Given the description of an element on the screen output the (x, y) to click on. 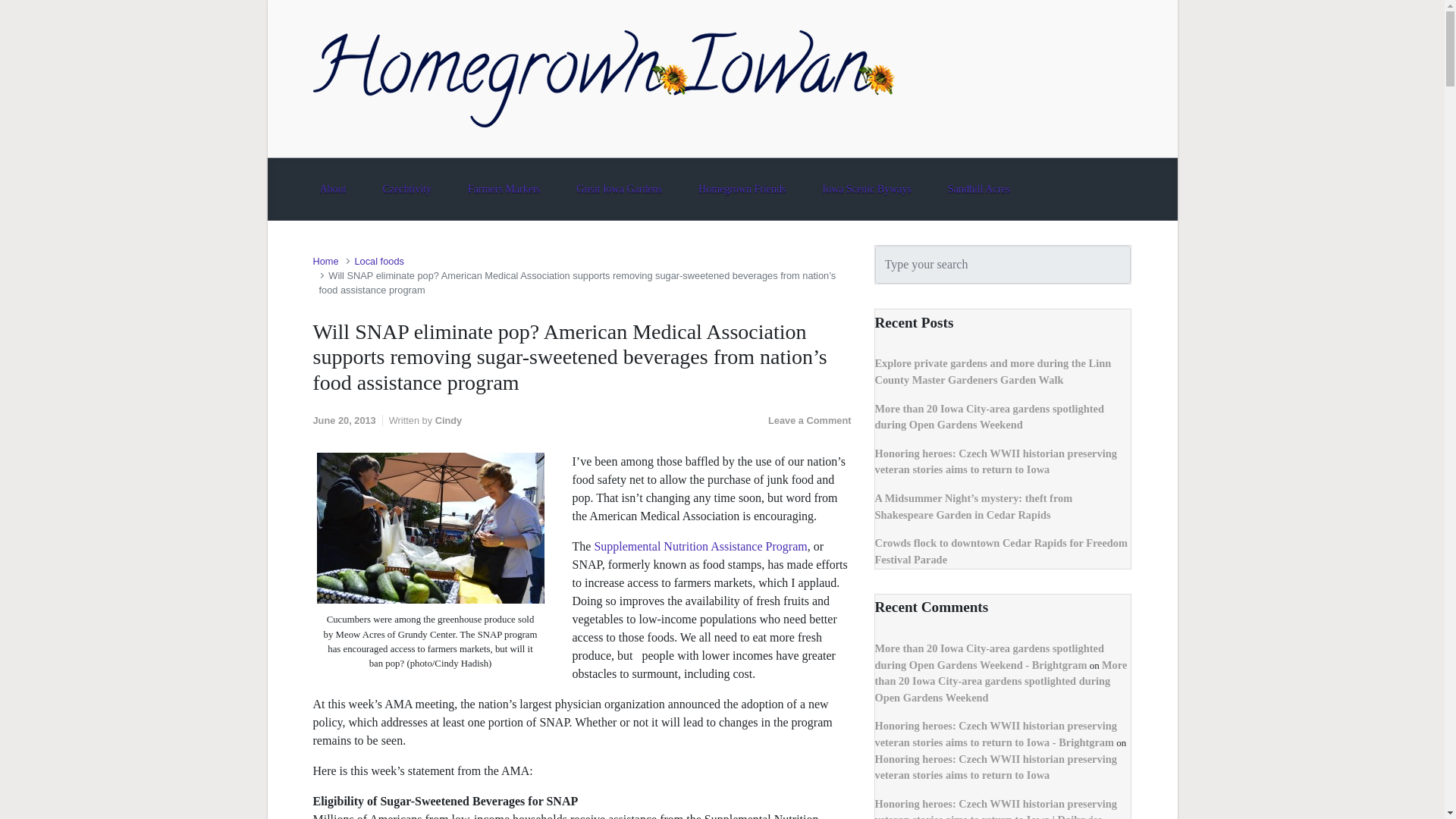
Farmers Markets (503, 188)
Sandhill Acres (979, 188)
About (332, 188)
Great Iowa Gardens (619, 188)
Skip to main content (17, 8)
Cindy (449, 419)
Czechtivity (406, 188)
Homegrown Friends (741, 188)
Local foods (378, 260)
Leave a Comment (809, 419)
Home (325, 260)
Iowa Scenic Byways (866, 188)
Local foods (378, 260)
Supplemental Nutrition Assistance Program (700, 545)
View all posts by Cindy (449, 419)
